Given the description of an element on the screen output the (x, y) to click on. 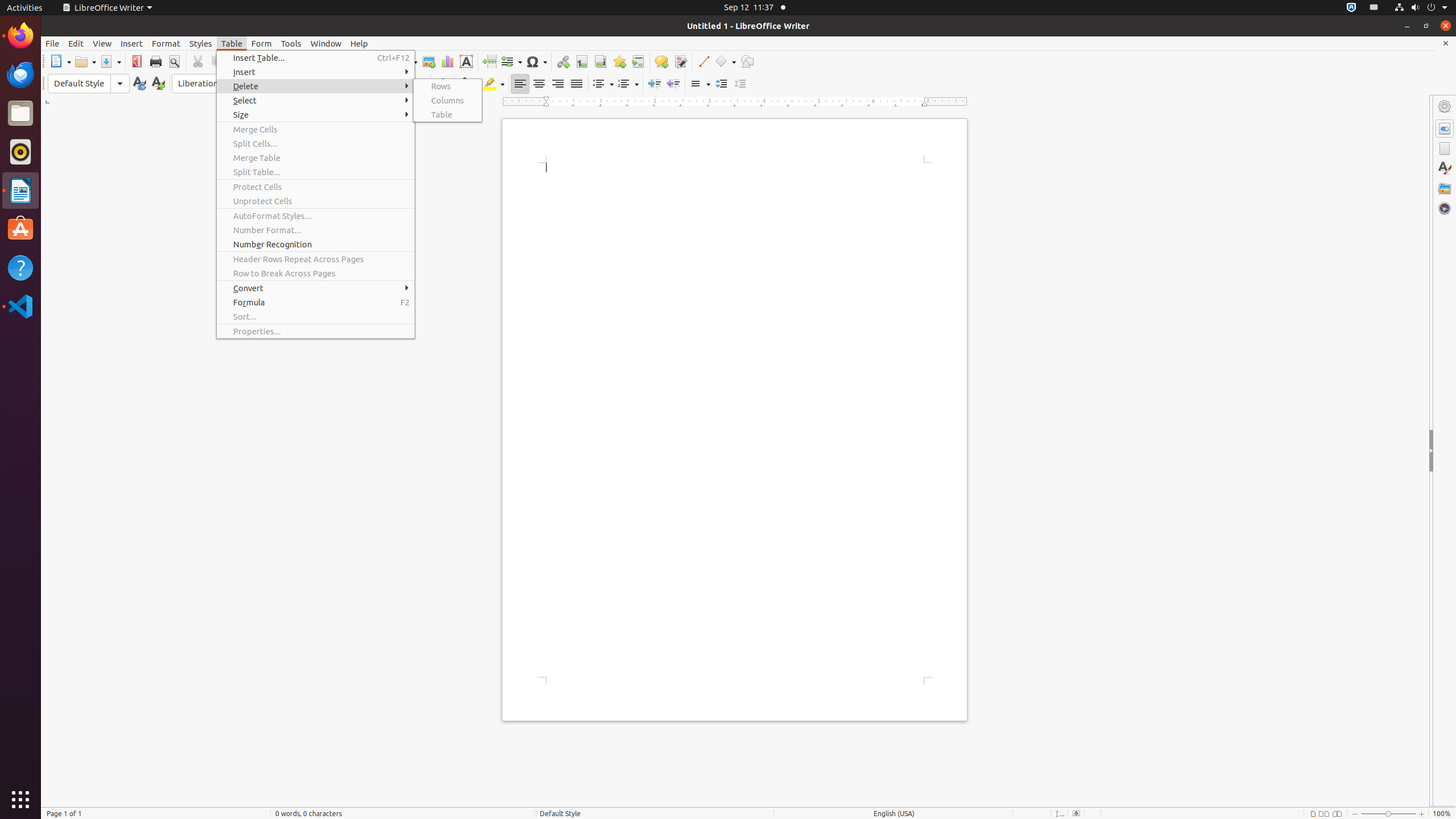
LibreOffice Writer Element type: menu (106, 7)
Decrease Element type: push-button (739, 83)
Tools Element type: menu (290, 43)
Hyperlink Element type: toggle-button (562, 61)
Visual Studio Code Element type: push-button (20, 306)
